Given the description of an element on the screen output the (x, y) to click on. 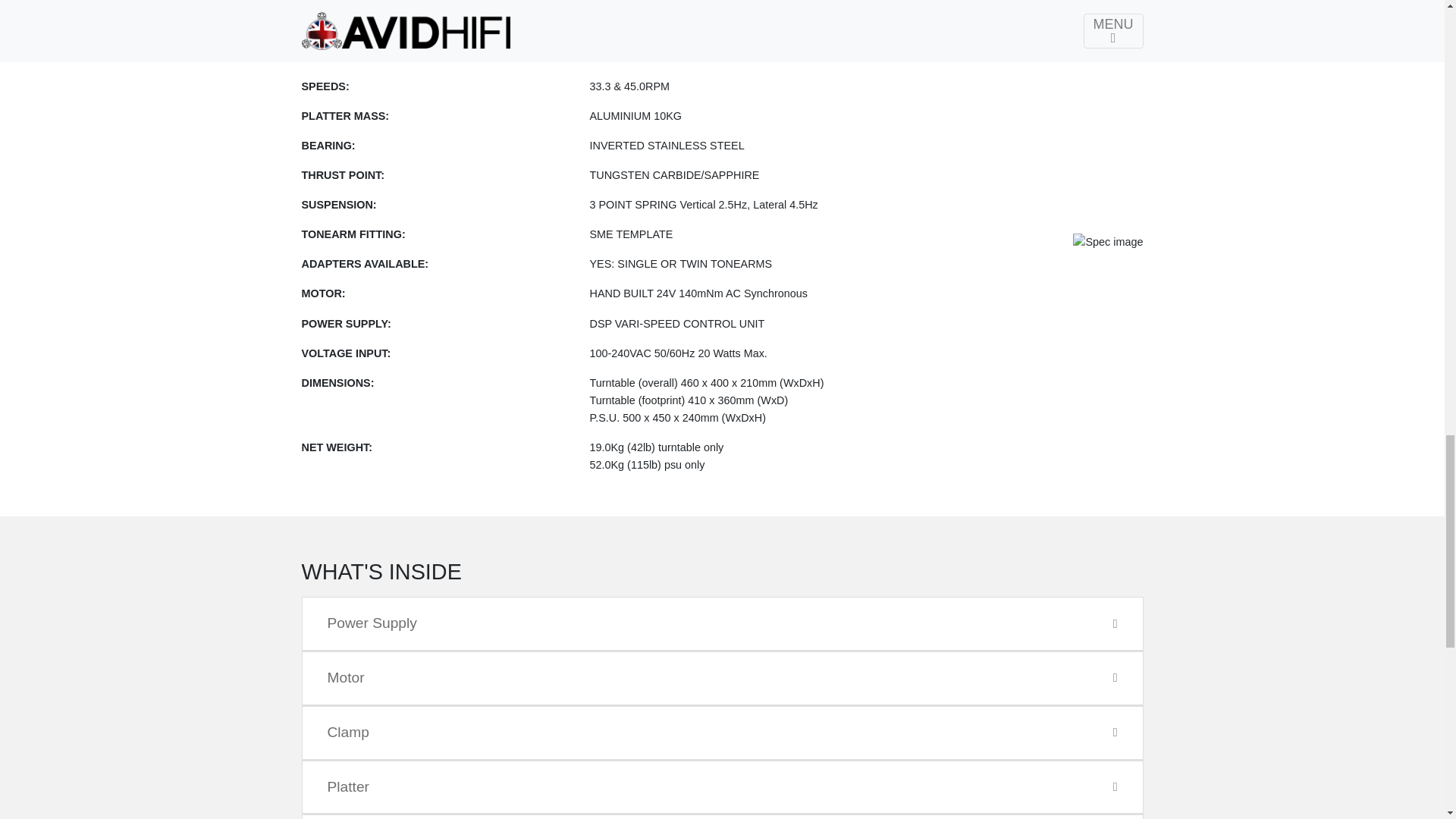
Power Supply (721, 623)
Motor (721, 677)
Clamp (721, 732)
